Given the description of an element on the screen output the (x, y) to click on. 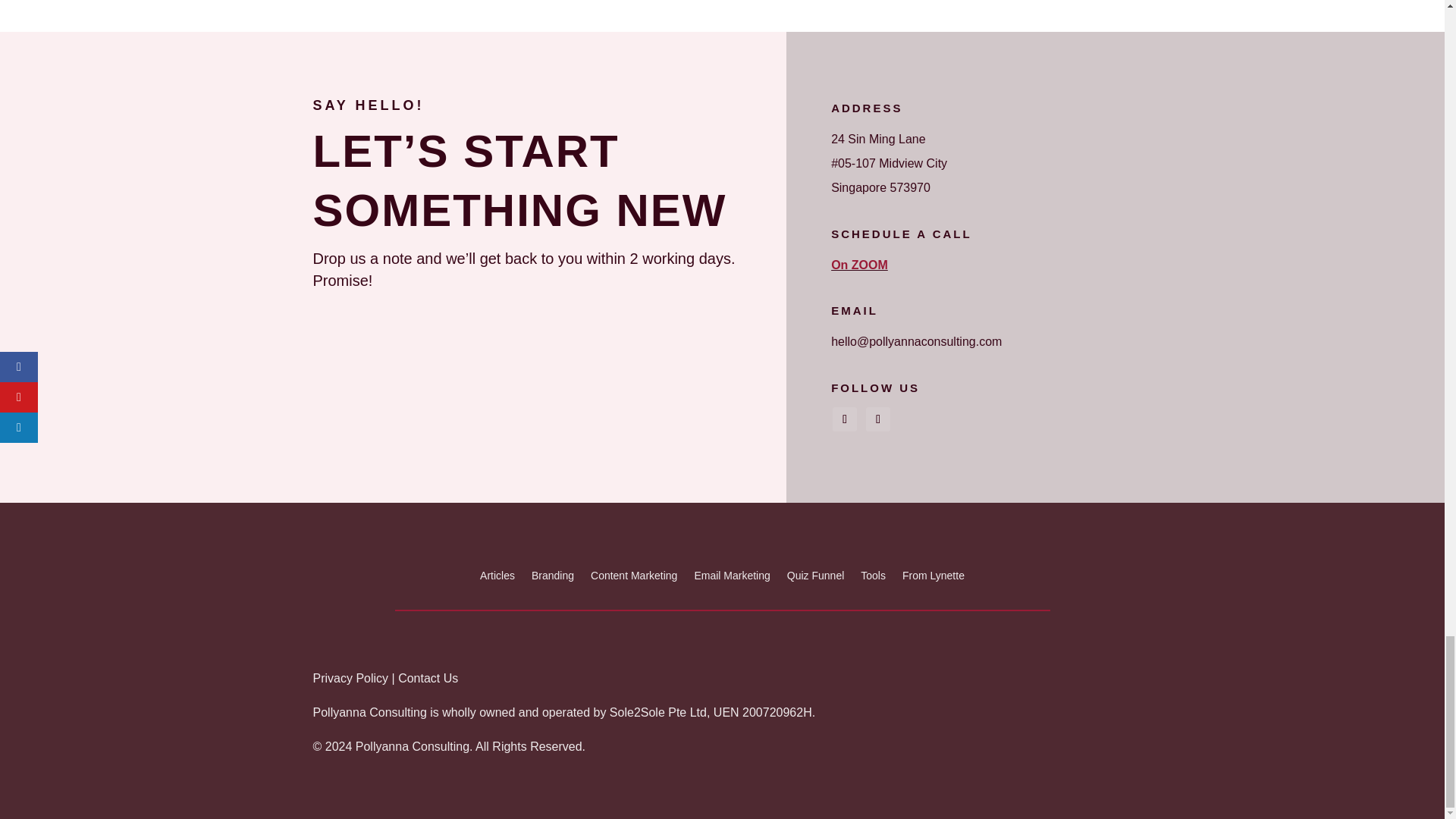
Branding (552, 578)
From Lynette (932, 578)
Tools (872, 578)
Quiz Funnel (815, 578)
Articles (497, 578)
On ZOOM (859, 264)
Follow on Facebook (844, 419)
Email Marketing (732, 578)
Follow on Instagram (877, 419)
Content Marketing (634, 578)
